Given the description of an element on the screen output the (x, y) to click on. 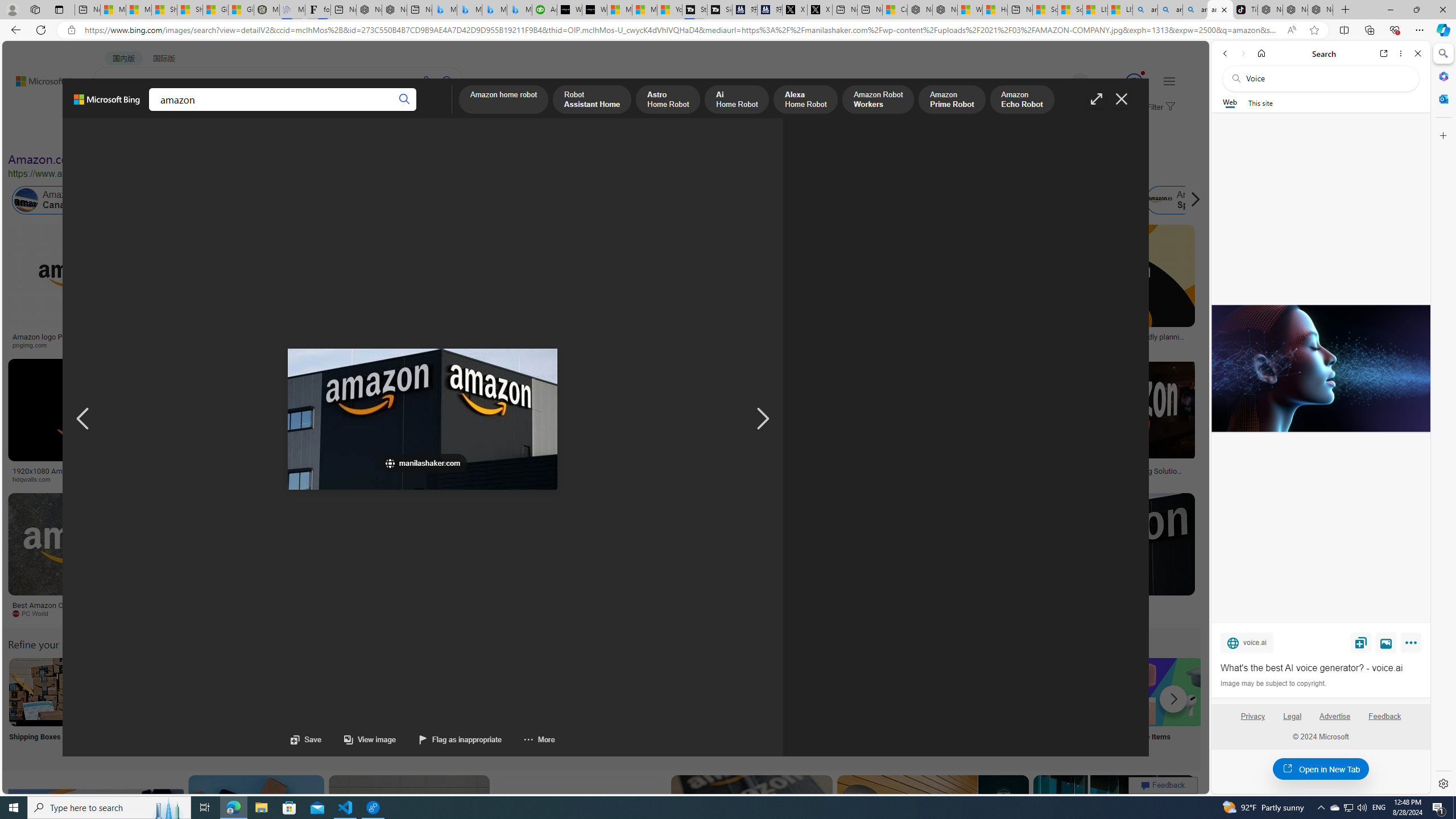
Amazon Online Store (644, 691)
Amazon Prime Robot (951, 100)
Amazon Shipping Boxes (42, 691)
Amazon Package Delivery (418, 691)
mytotalretail.com (224, 344)
Outlook (1442, 98)
Sale Items (1169, 706)
downdetector.ae (869, 344)
Image size (126, 135)
Online Shopping Search (118, 706)
Customize (1442, 135)
Amazon Visa Card Login (1093, 691)
